Given the description of an element on the screen output the (x, y) to click on. 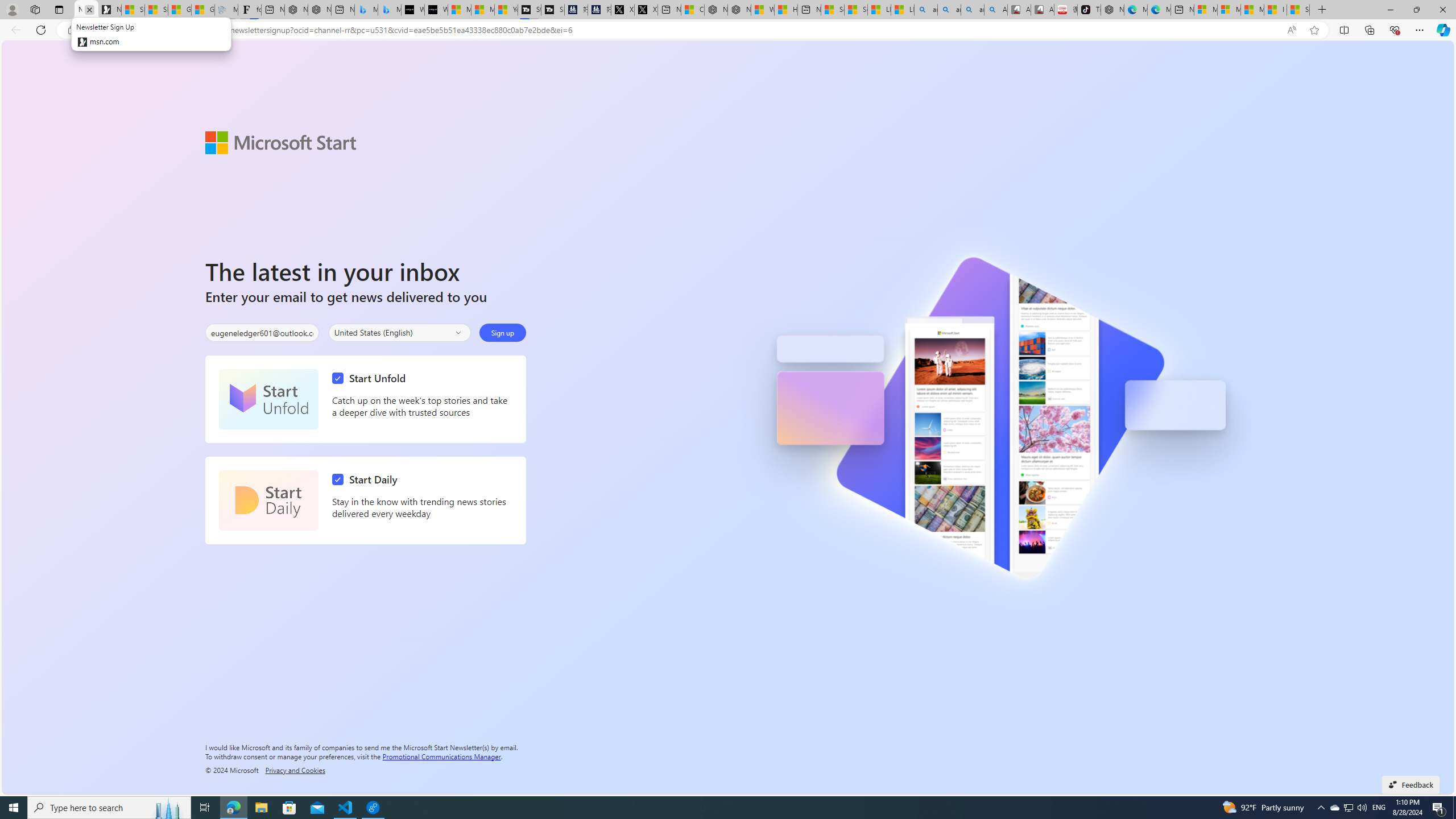
amazon - Search Images (972, 9)
Microsoft Bing Travel - Stays in Bangkok, Bangkok, Thailand (365, 9)
Start Daily (367, 479)
